Given the description of an element on the screen output the (x, y) to click on. 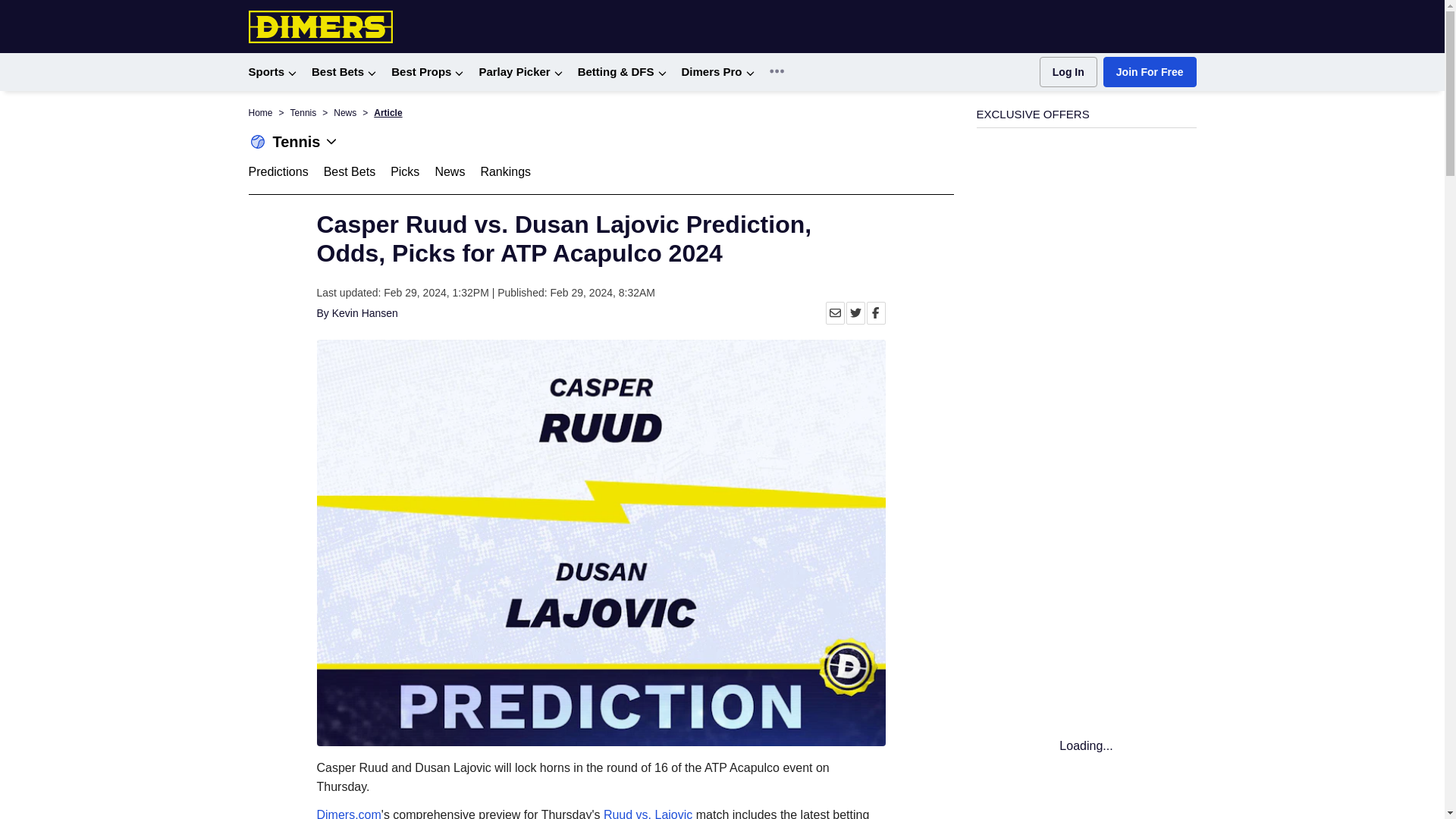
Dimers Pro (717, 72)
Parlay Picker (520, 72)
Sports (272, 72)
Best Props (427, 72)
Best Bets (343, 72)
